Given the description of an element on the screen output the (x, y) to click on. 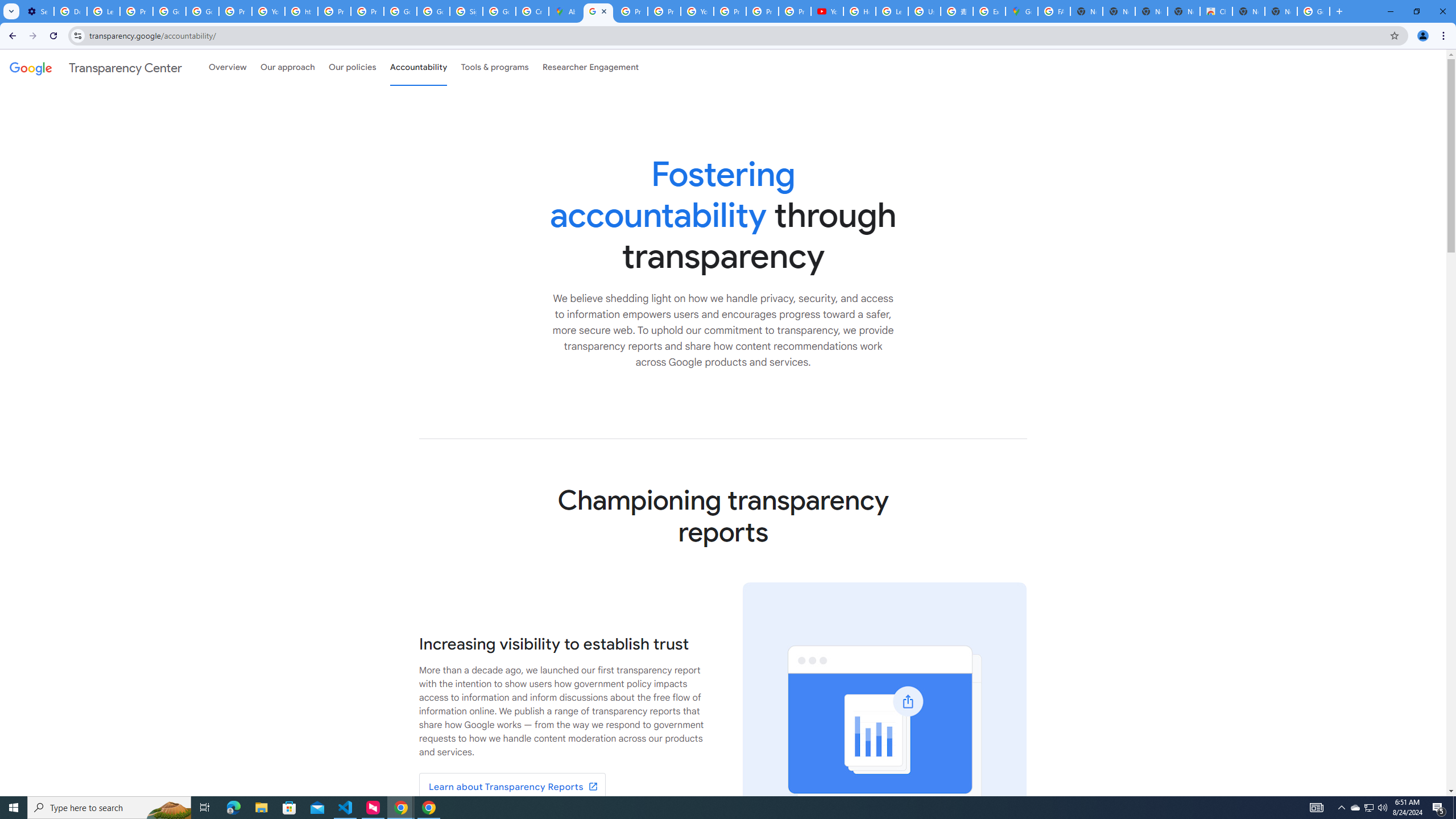
Delete photos & videos - Computer - Google Photos Help (70, 11)
New Tab (1281, 11)
